Given the description of an element on the screen output the (x, y) to click on. 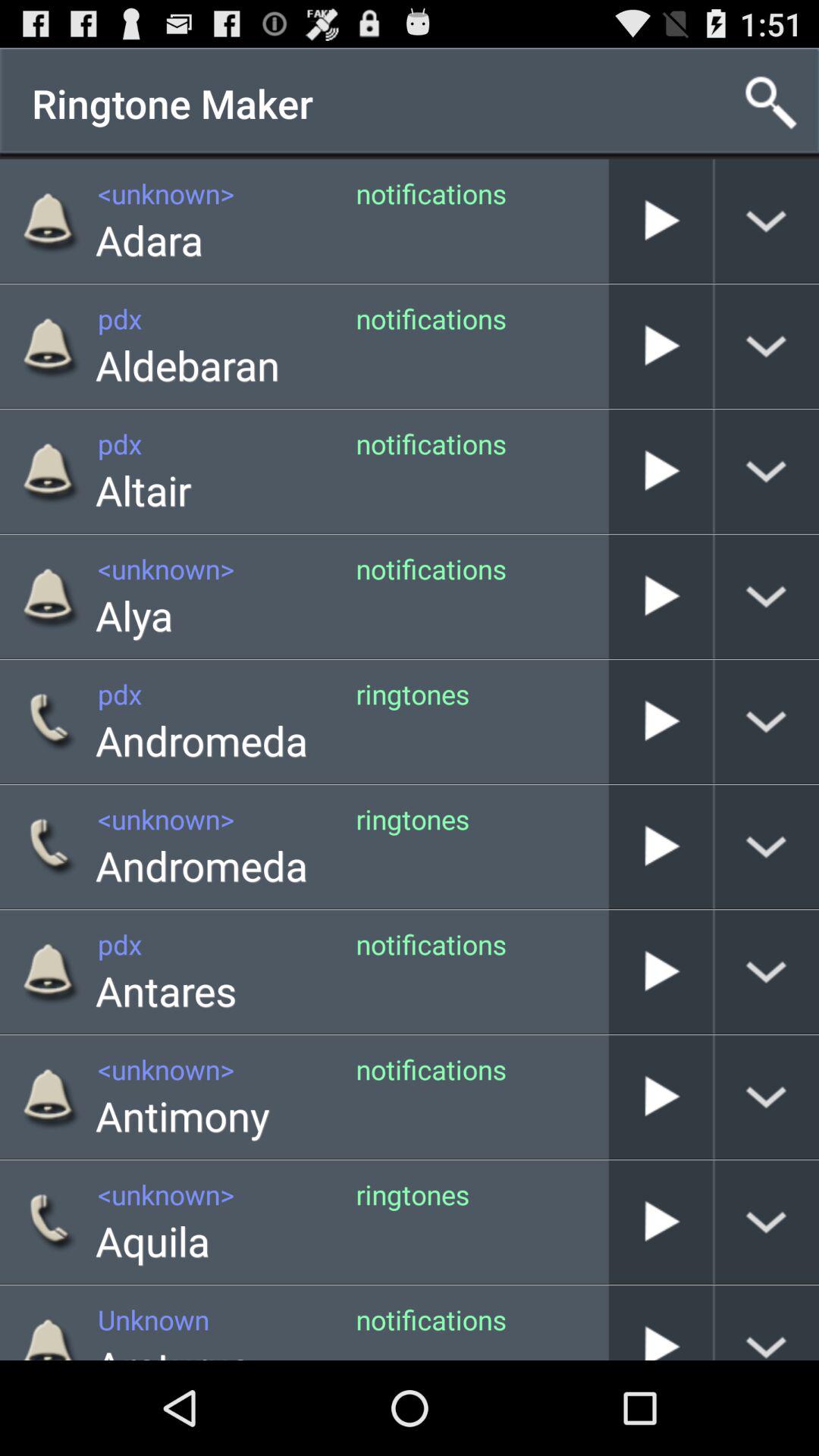
jump to the arcturus icon (172, 1349)
